Given the description of an element on the screen output the (x, y) to click on. 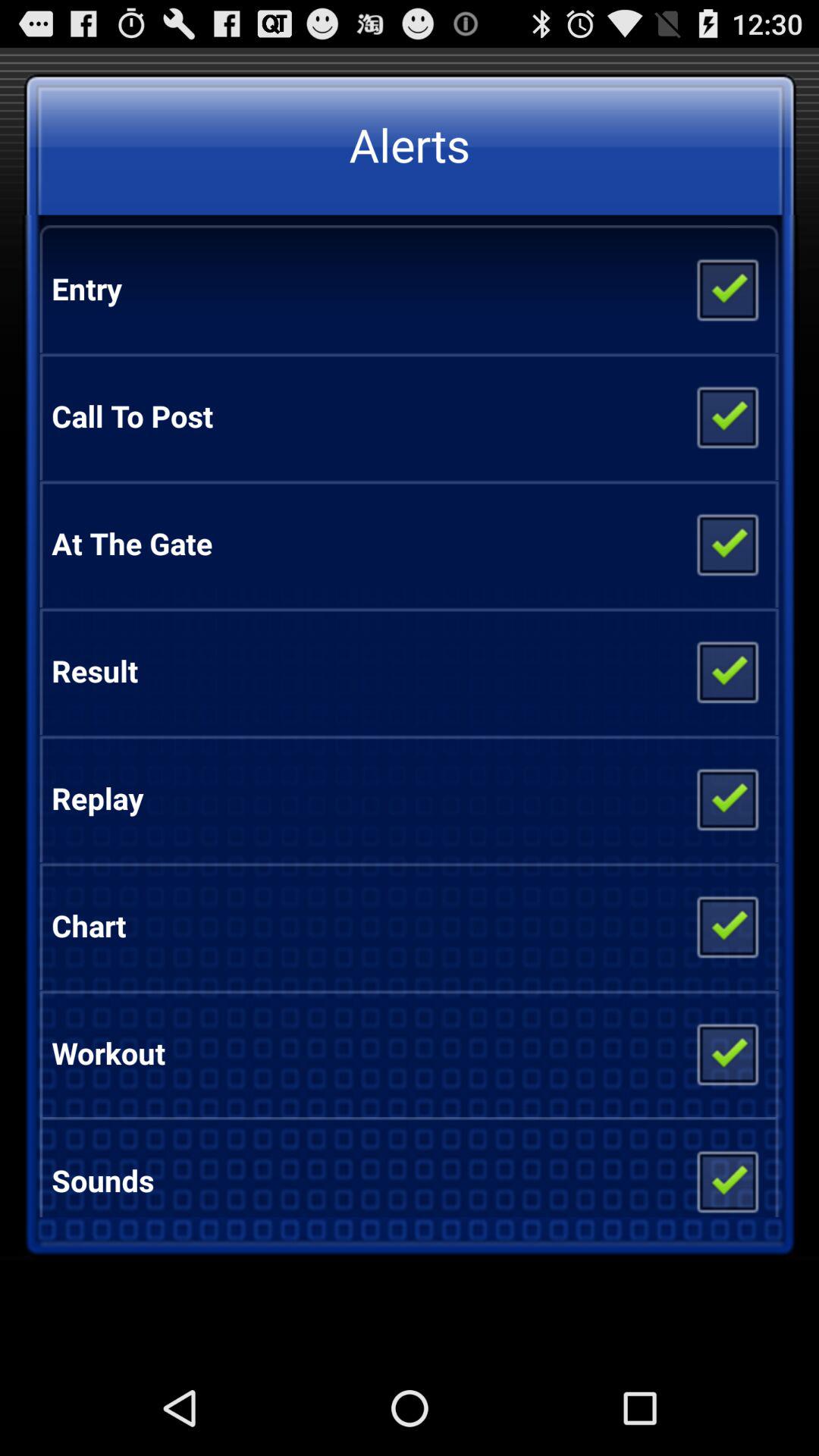
toggle sounds (726, 1174)
